Given the description of an element on the screen output the (x, y) to click on. 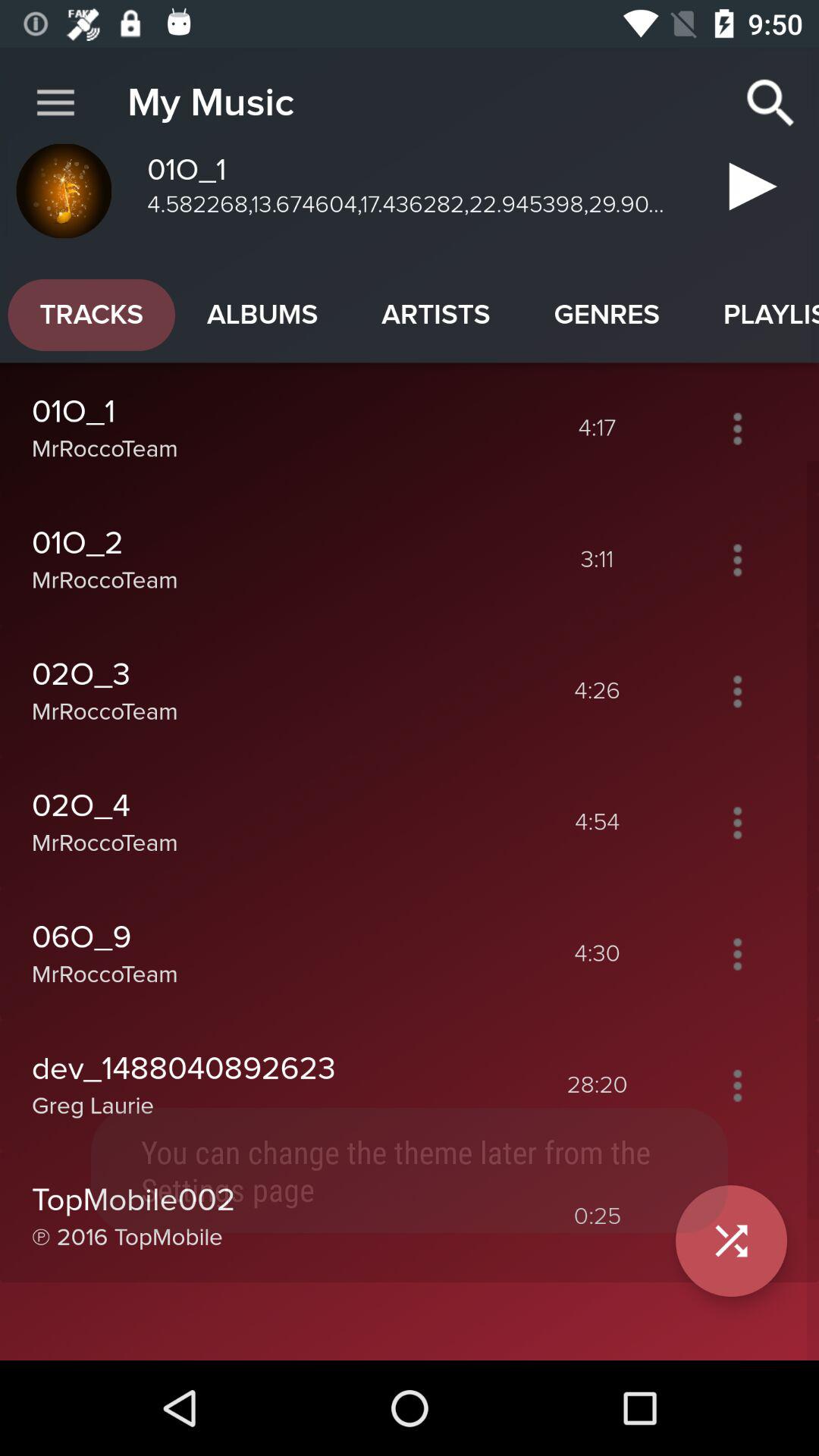
the toggle is used to open the options (737, 953)
